Given the description of an element on the screen output the (x, y) to click on. 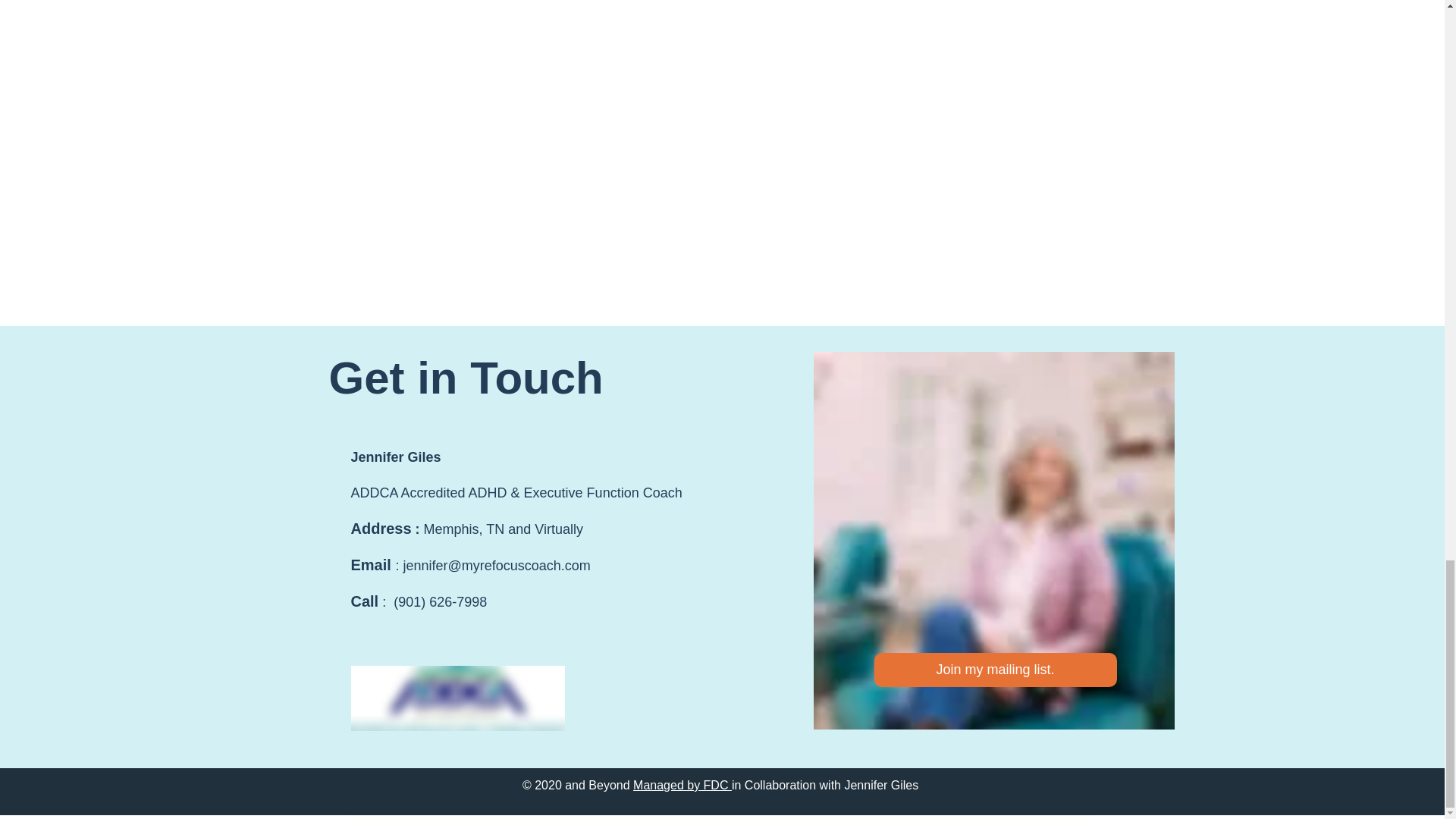
Managed by FDC (682, 784)
Join my mailing list. (994, 669)
